Given the description of an element on the screen output the (x, y) to click on. 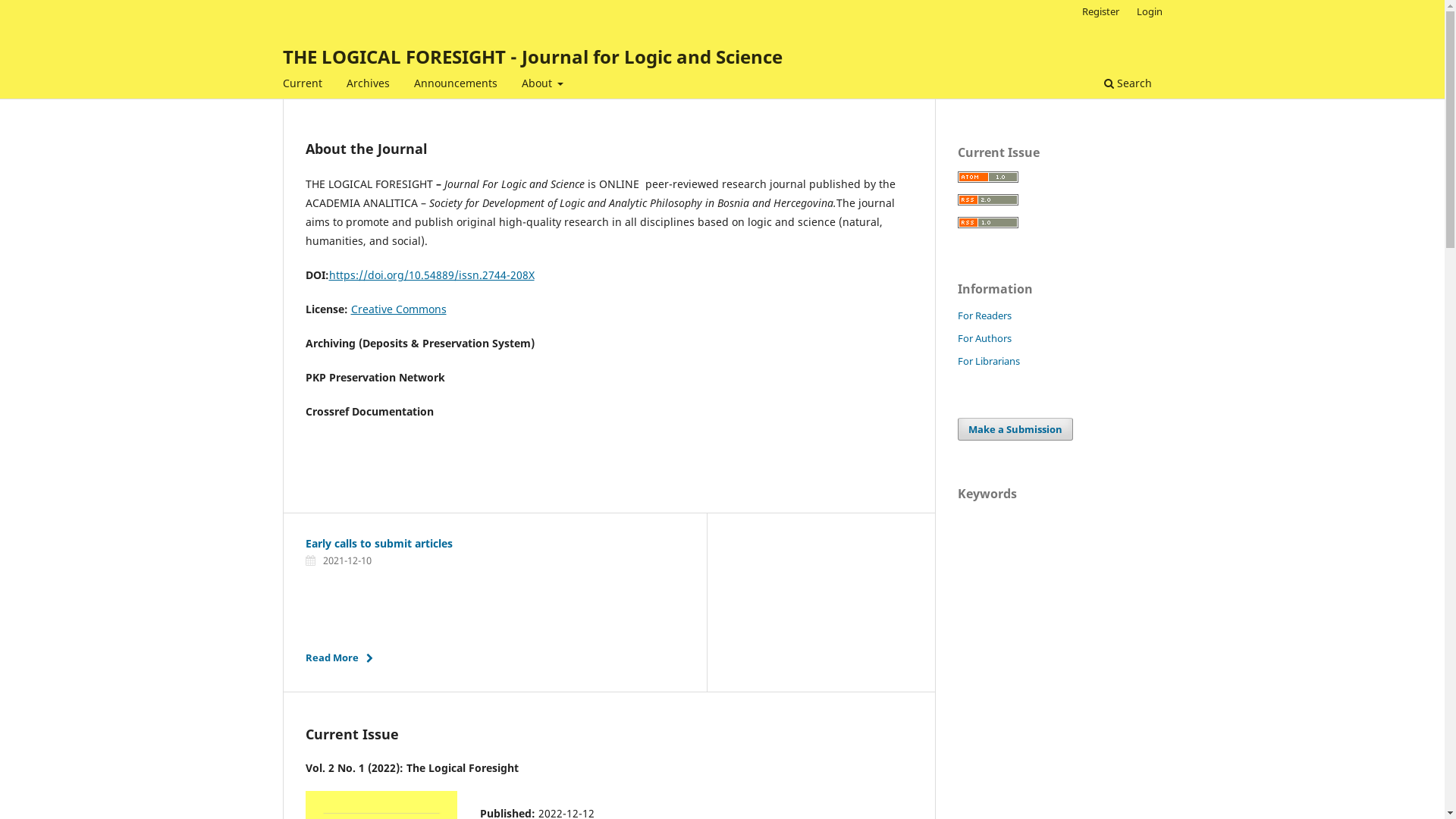
https://doi.org/10.54889/issn.2744-208X Element type: text (431, 274)
Current Element type: text (302, 85)
Login Element type: text (1149, 11)
Search Element type: text (1127, 85)
For Readers Element type: text (983, 315)
For Librarians Element type: text (988, 360)
Make a Submission Element type: text (1014, 428)
Early calls to submit articles Element type: text (377, 543)
Read More Element type: text (342, 657)
About Element type: text (541, 85)
Register Element type: text (1100, 11)
Archives Element type: text (368, 85)
Creative Commons Element type: text (397, 308)
For Authors Element type: text (983, 338)
Announcements Element type: text (454, 85)
THE LOGICAL FORESIGHT - Journal for Logic and Science Element type: text (531, 56)
